Given the description of an element on the screen output the (x, y) to click on. 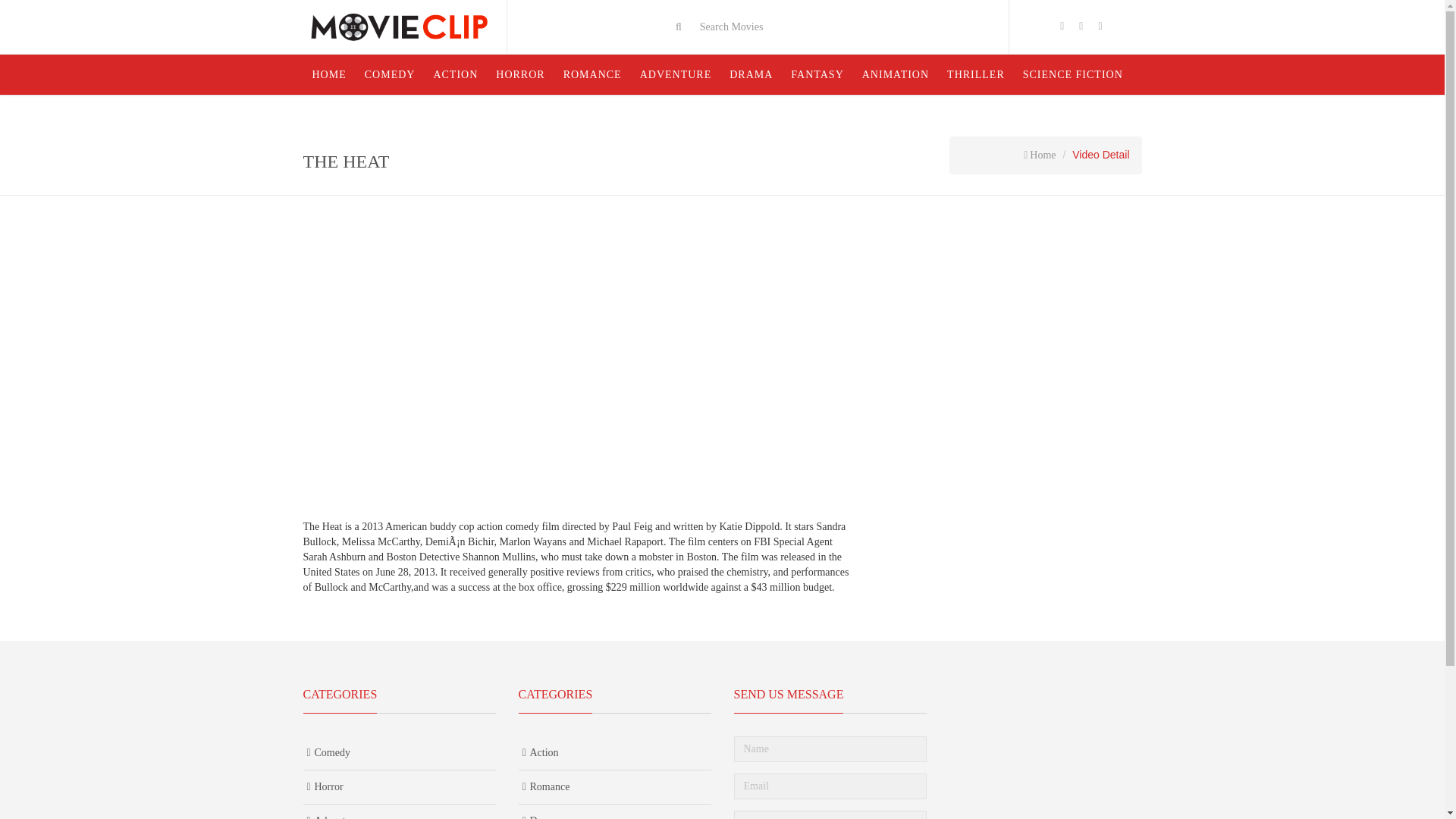
Adventure (399, 811)
HOME (328, 74)
SCIENCE FICTION (1072, 74)
ADVENTURE (675, 74)
Romance (614, 787)
ROMANCE (592, 74)
Comedy (399, 753)
Action (614, 753)
COMEDY (390, 74)
FANTASY (816, 74)
ACTION (454, 74)
THRILLER (975, 74)
Horror (399, 787)
HORROR (519, 74)
Home (1039, 154)
